Given the description of an element on the screen output the (x, y) to click on. 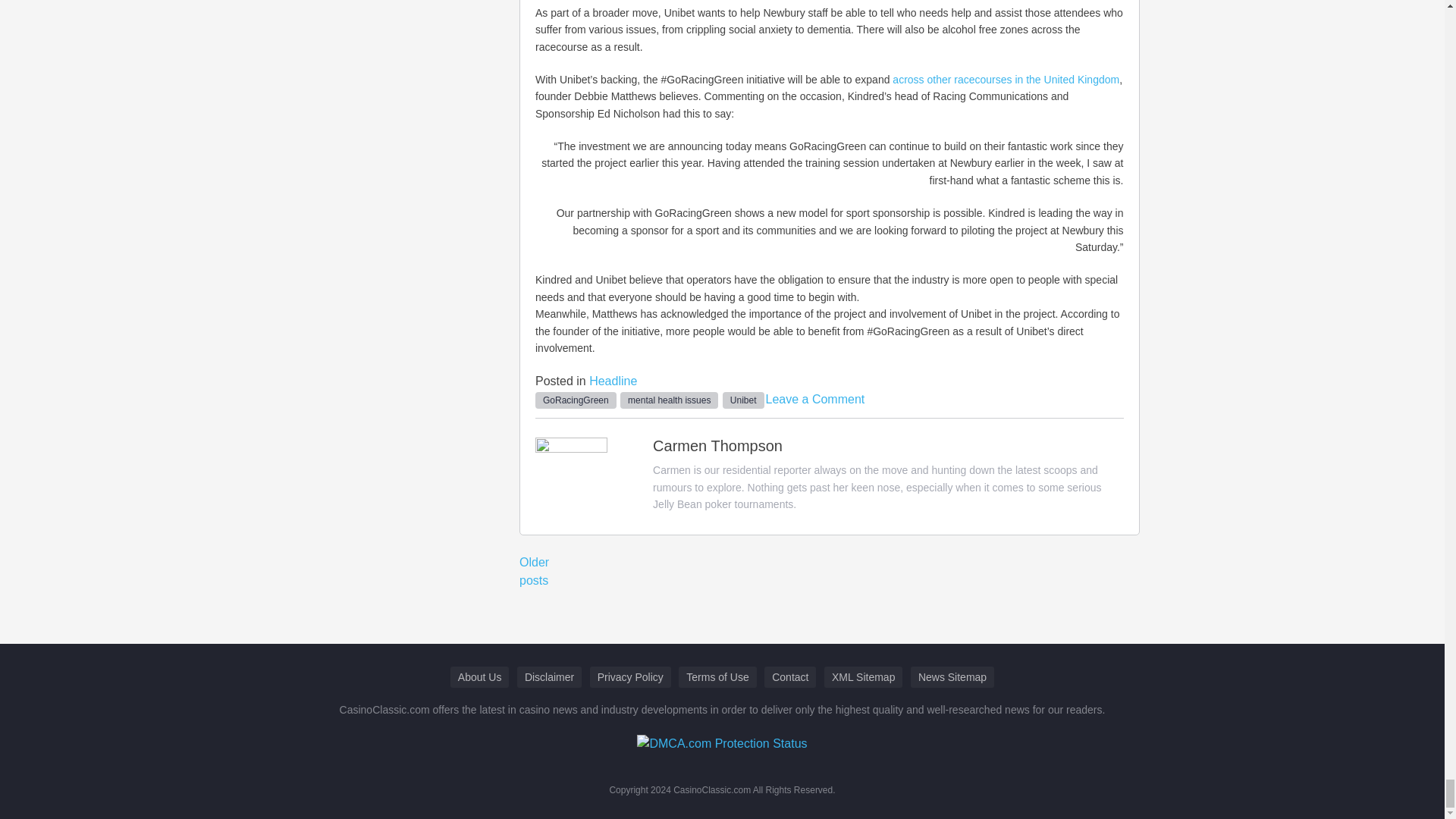
DMCA.com Protection Status (721, 742)
